Given the description of an element on the screen output the (x, y) to click on. 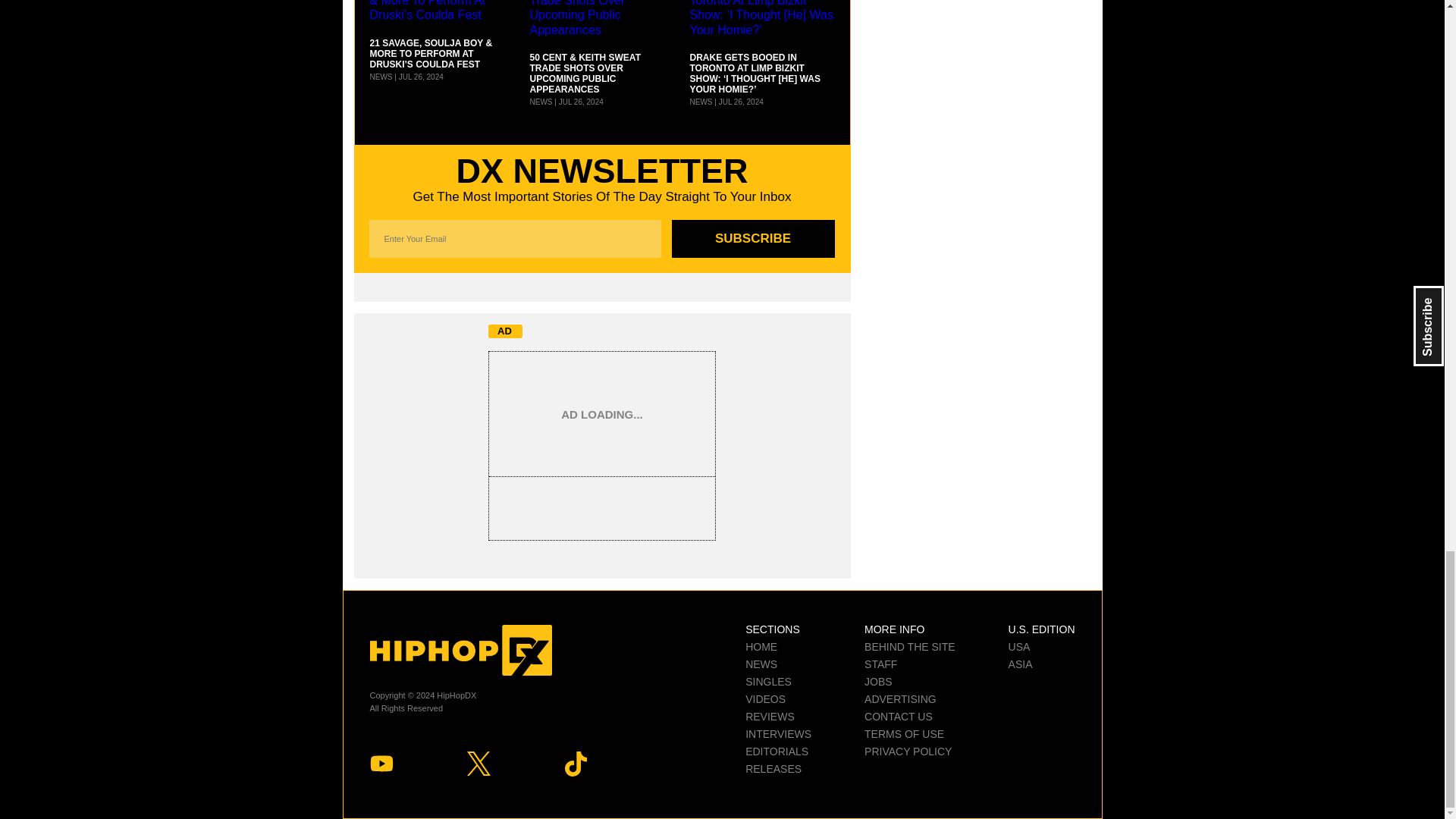
HipHopDX (460, 650)
